Given the description of an element on the screen output the (x, y) to click on. 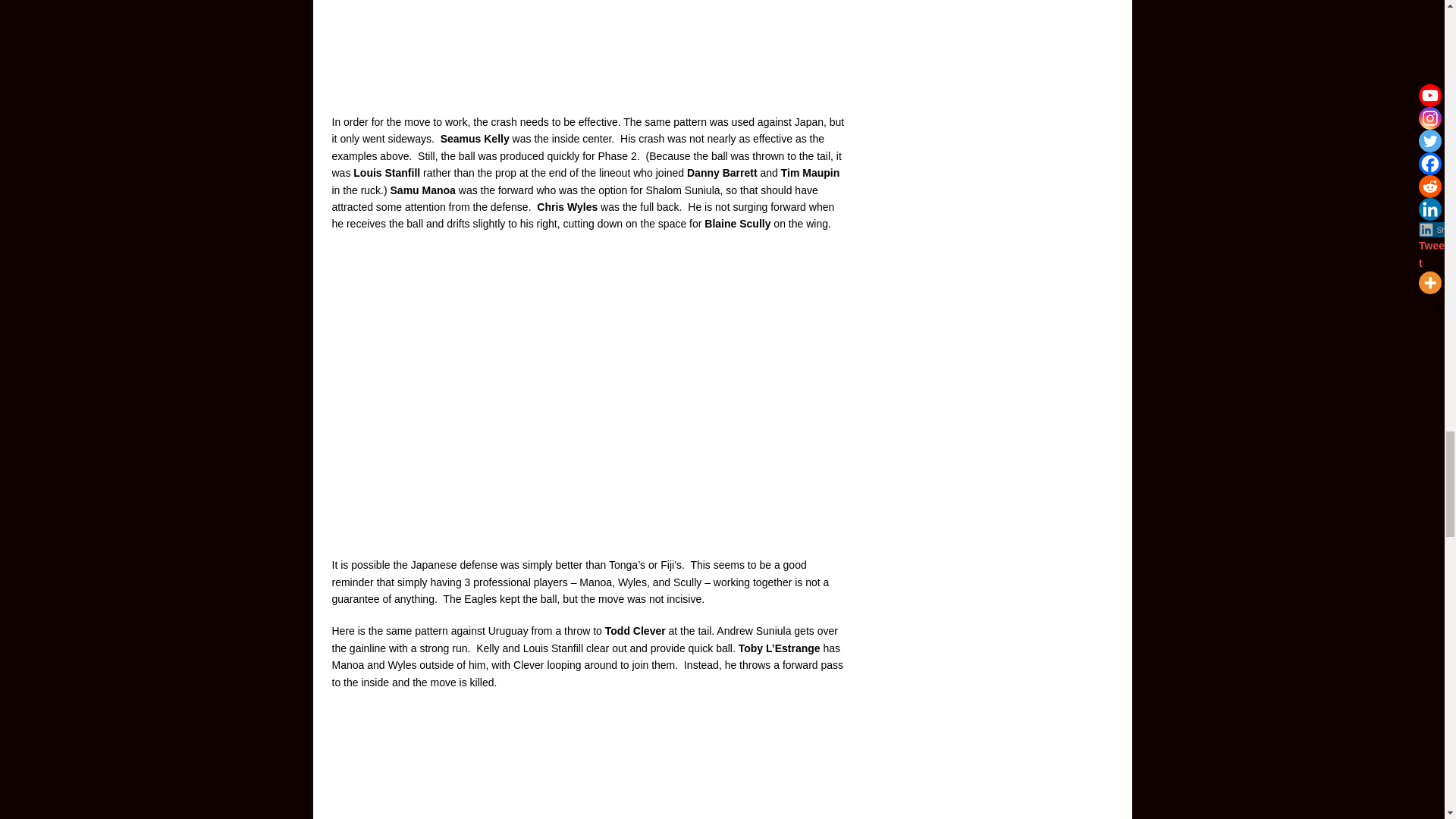
Forward pass after a lineout (588, 762)
A Palamo crash leads to a penalty conceded. (588, 47)
